Given the description of an element on the screen output the (x, y) to click on. 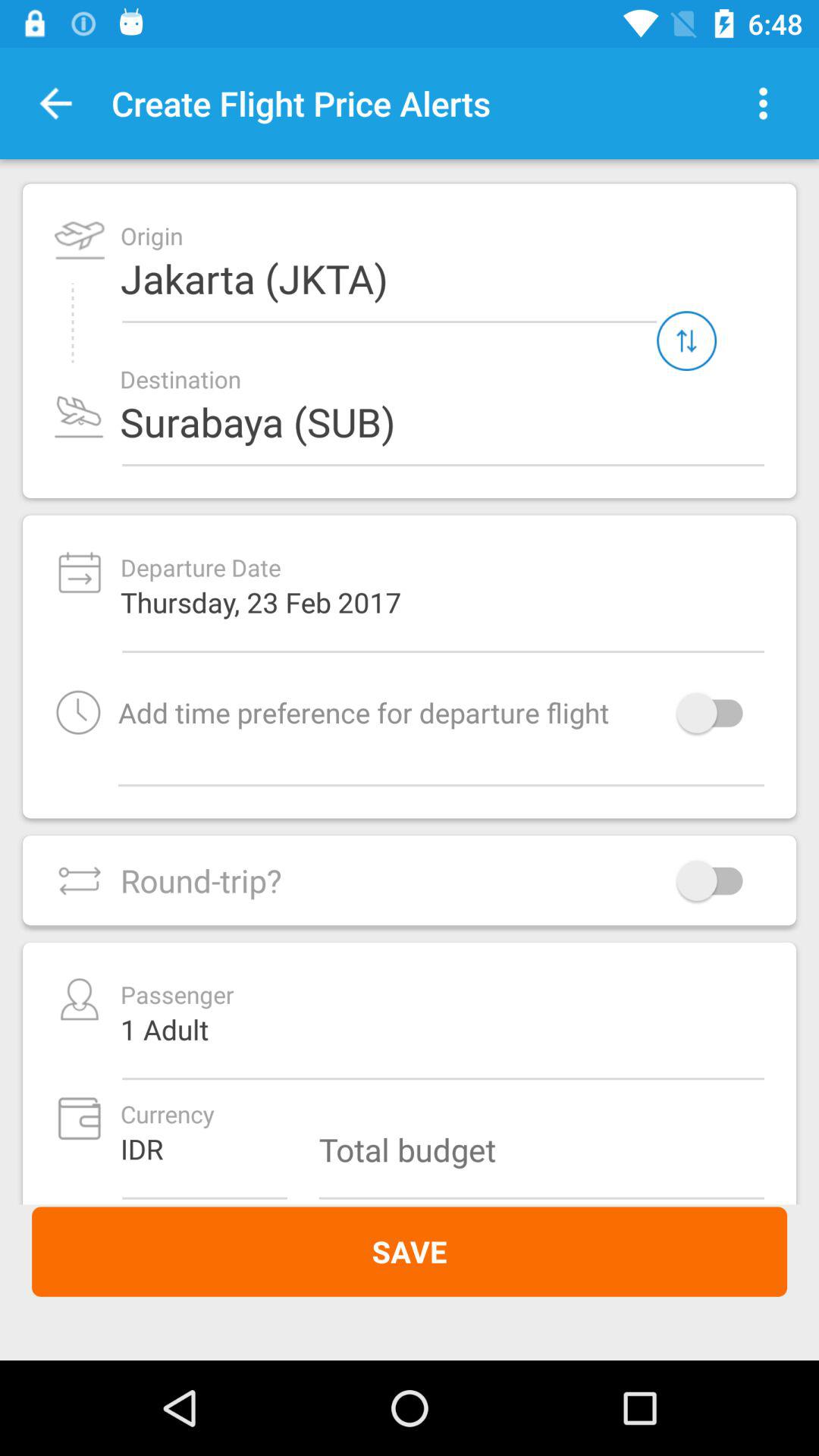
launch item to the right of create flight price item (763, 103)
